Given the description of an element on the screen output the (x, y) to click on. 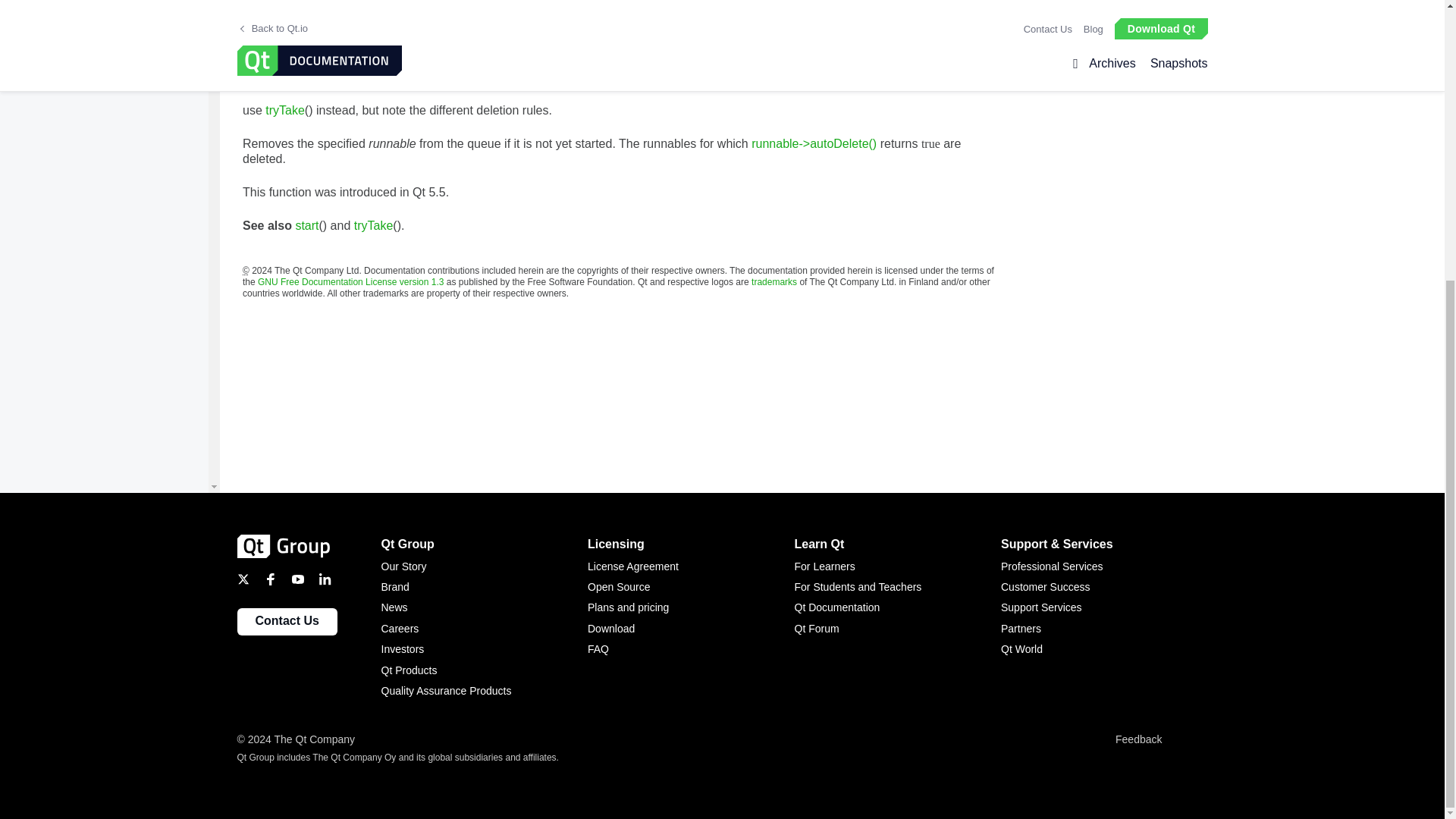
QRunnable (496, 28)
